Given the description of an element on the screen output the (x, y) to click on. 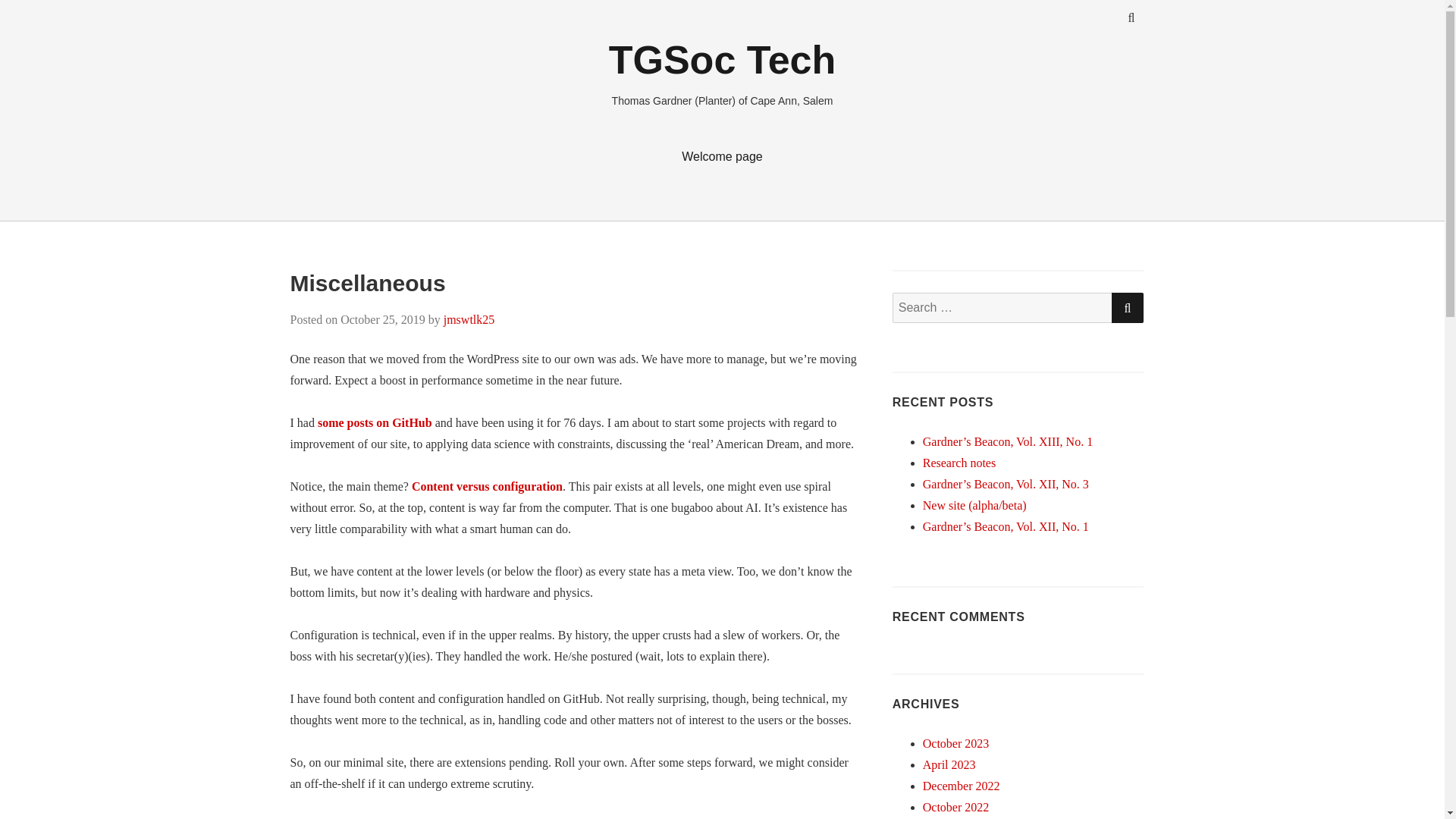
Welcome page (722, 156)
April 2023 (949, 764)
some posts on GitHub (374, 422)
October 2023 (956, 743)
Research notes (959, 462)
Content versus configuration (487, 486)
SEARCH (1127, 307)
October 2022 (956, 807)
December 2022 (961, 785)
jmswtlk25 (469, 318)
